Given the description of an element on the screen output the (x, y) to click on. 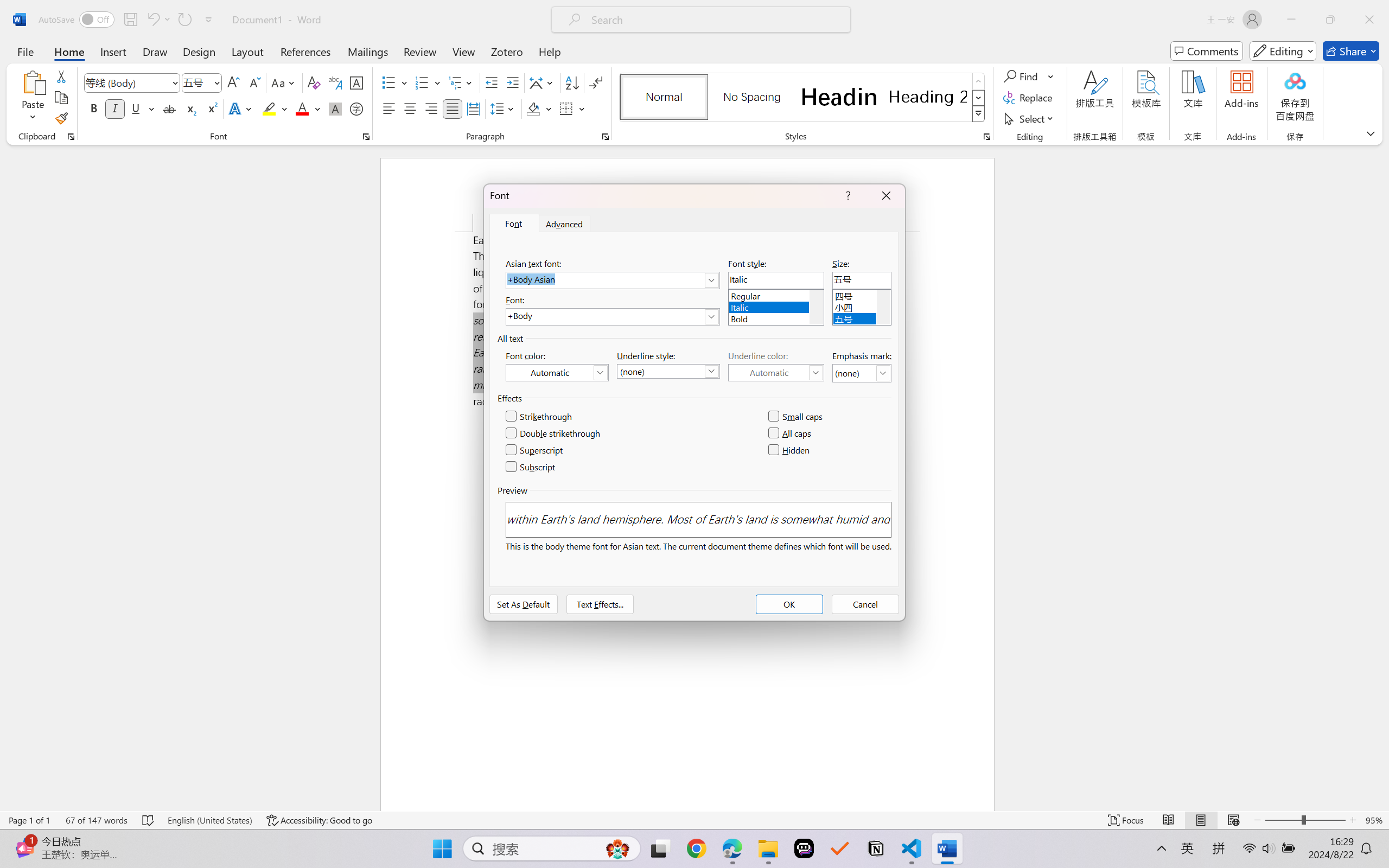
Shrink Font (253, 82)
Asian Layout (542, 82)
Phonetic Guide... (334, 82)
Regular (775, 294)
